Given the description of an element on the screen output the (x, y) to click on. 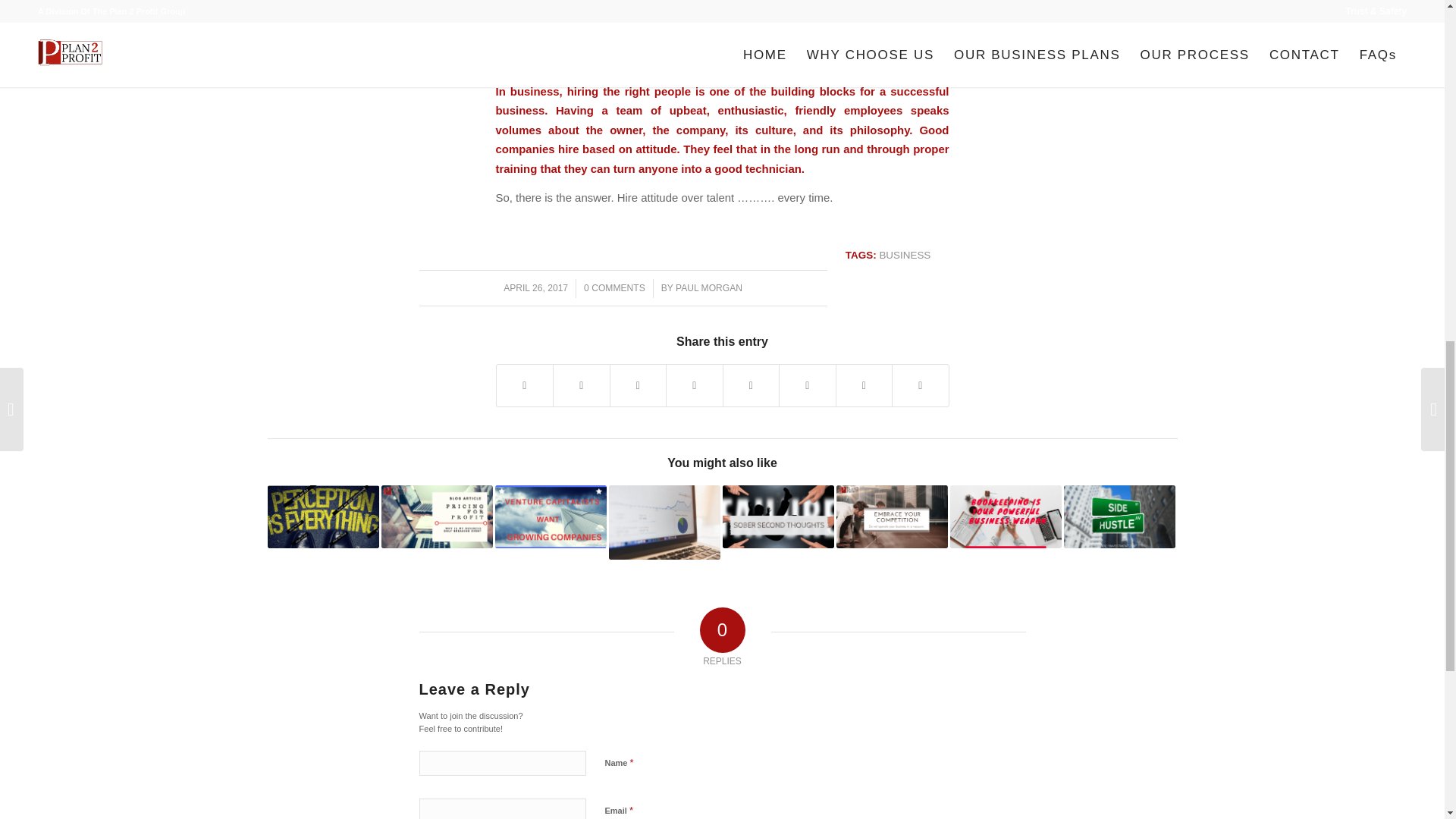
Perception Is Everything (322, 516)
PAUL MORGAN (708, 287)
Posts by Paul Morgan (708, 287)
0 COMMENTS (614, 287)
BUSINESS (904, 255)
